Given the description of an element on the screen output the (x, y) to click on. 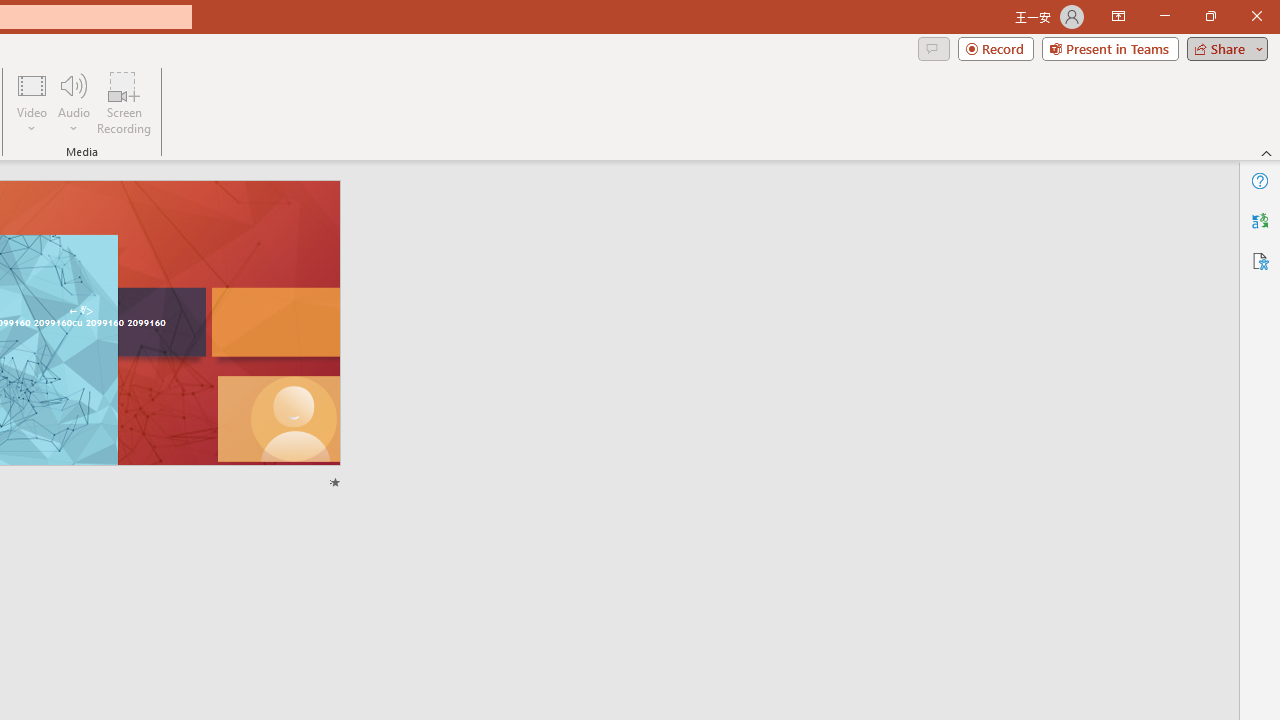
Video (31, 102)
Screen Recording... (123, 102)
